Given the description of an element on the screen output the (x, y) to click on. 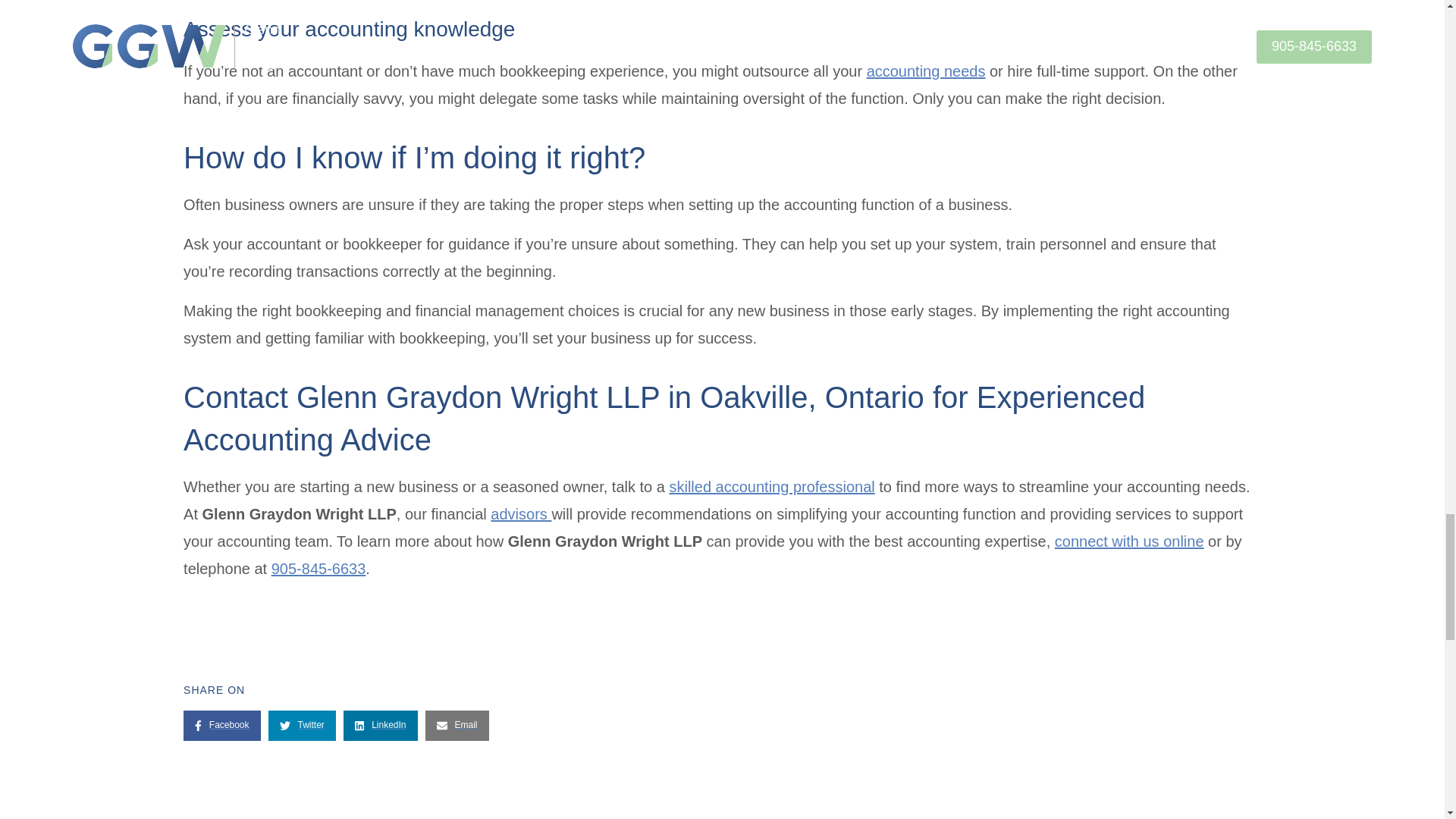
Twitter (301, 725)
advisors (520, 514)
connect with us online (1129, 541)
Facebook (221, 725)
accounting needs (925, 71)
905-845-6633 (318, 568)
Email (456, 725)
skilled accounting professional (771, 486)
LinkedIn (380, 725)
